Given the description of an element on the screen output the (x, y) to click on. 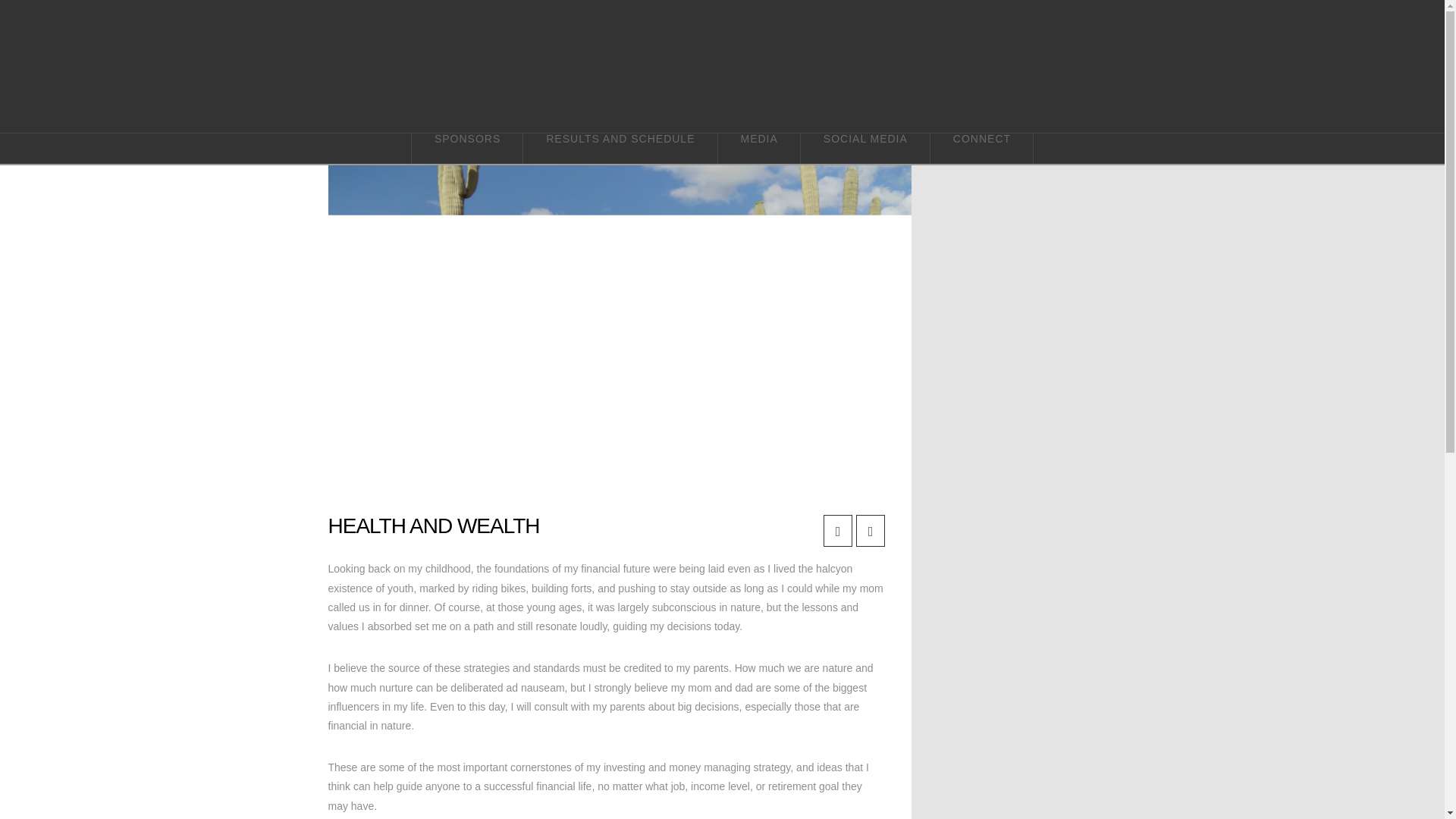
SOCIAL MEDIA (865, 148)
SPONSORS (466, 148)
RESULTS AND SCHEDULE (619, 148)
CONNECT (981, 148)
MEDIA (758, 148)
